Given the description of an element on the screen output the (x, y) to click on. 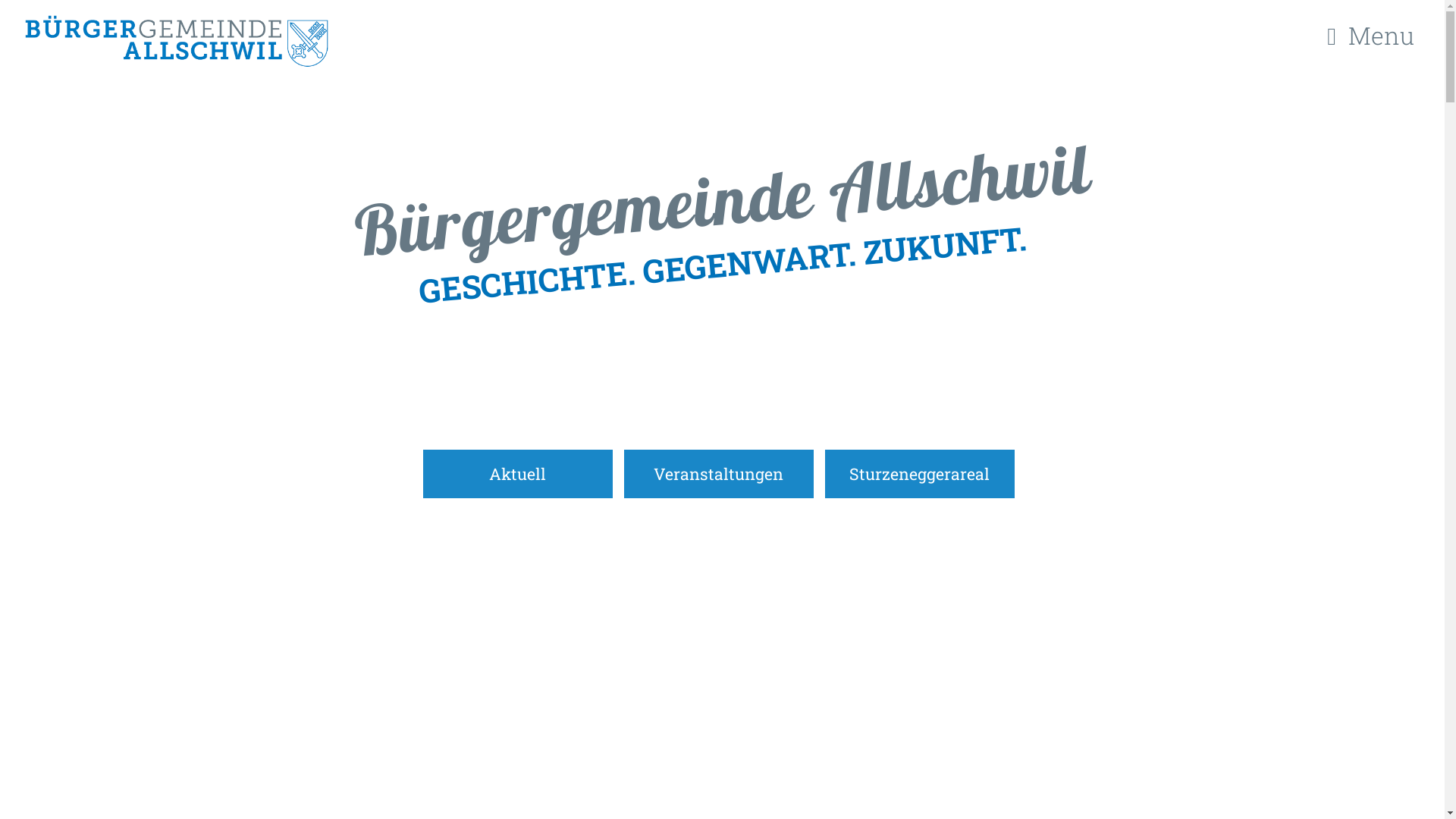
Veranstaltungen Element type: text (717, 473)
Weiter Element type: text (713, 357)
Aktuell Element type: text (517, 473)
Sturzeneggerareal Element type: text (919, 473)
Menu Element type: text (1376, 36)
